Given the description of an element on the screen output the (x, y) to click on. 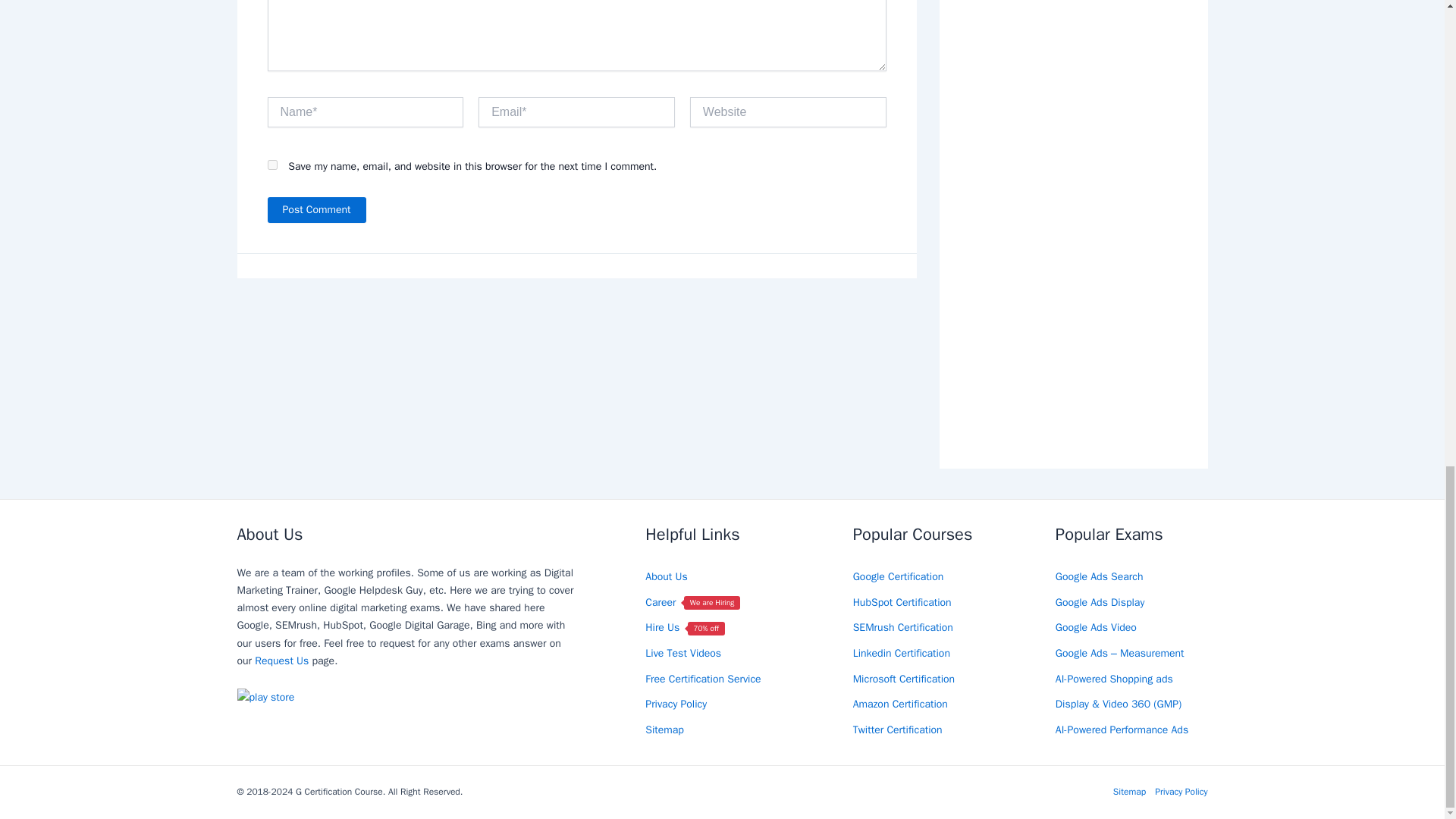
play store (264, 696)
Post Comment (315, 209)
yes (271, 164)
